Given the description of an element on the screen output the (x, y) to click on. 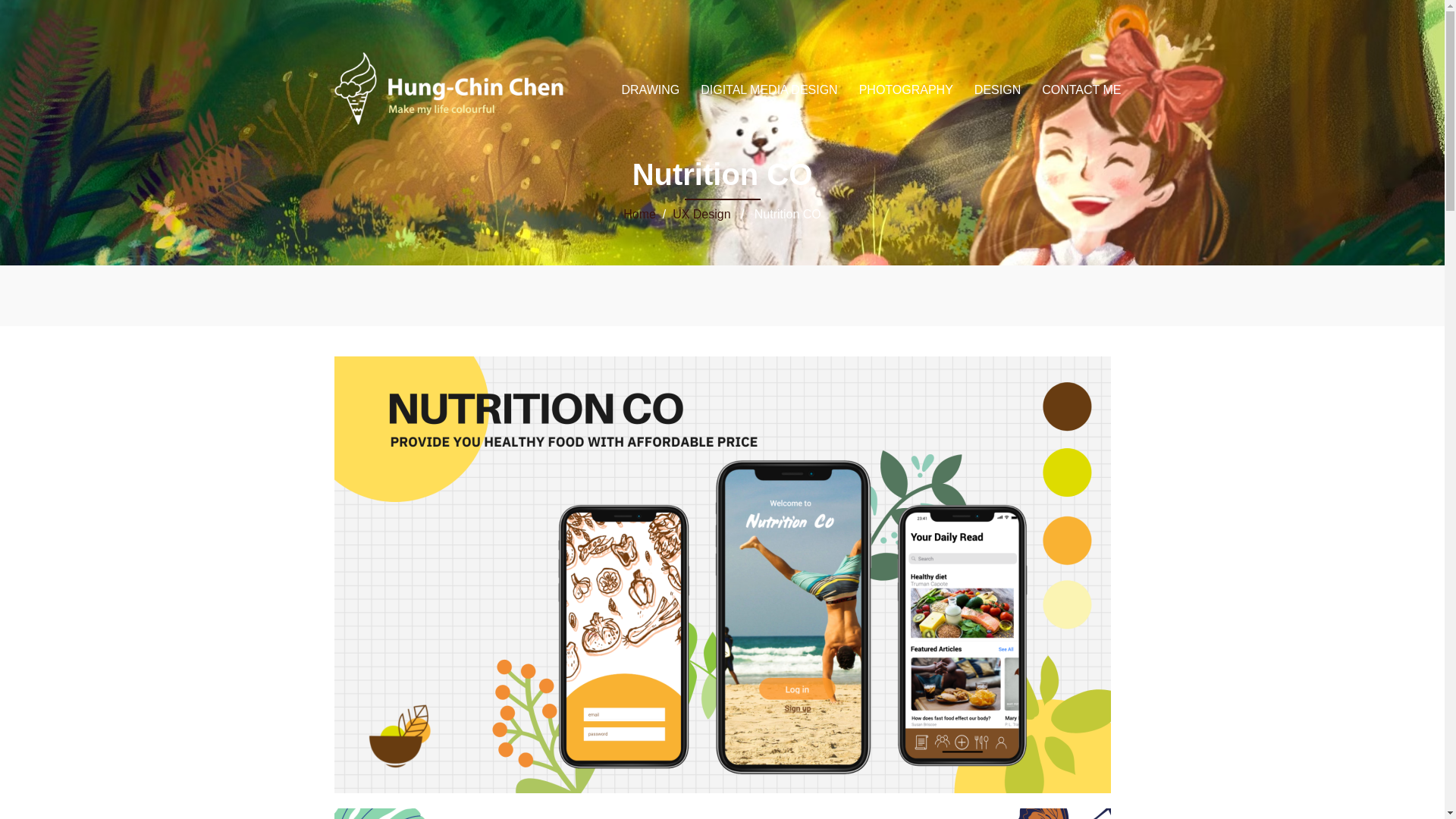
DESIGN (997, 90)
DRAWING (650, 90)
PHOTOGRAPHY (906, 90)
Hung-Chin Chen (441, 89)
CONTACT ME (1081, 90)
DIGITAL MEDIA DESIGN (768, 90)
Home (639, 214)
UX Design (701, 214)
